Given the description of an element on the screen output the (x, y) to click on. 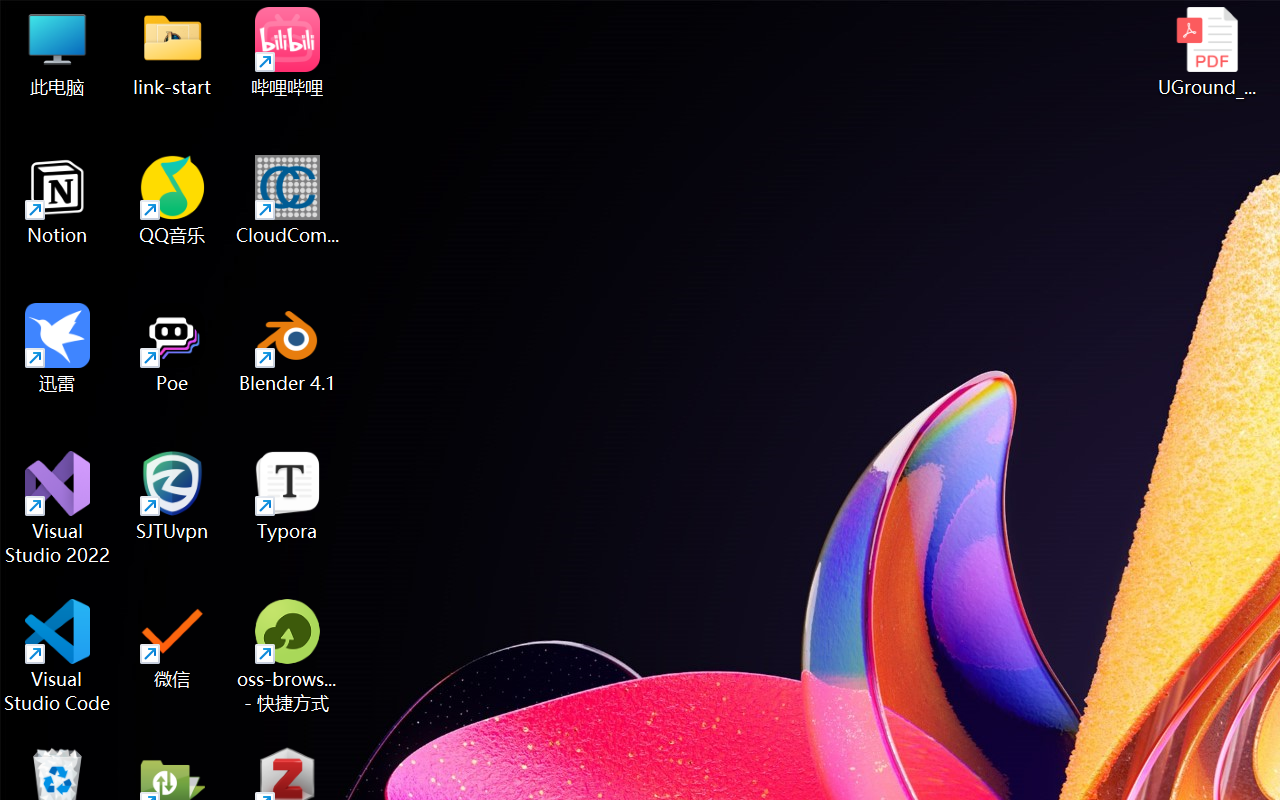
Blender 4.1 (287, 348)
CloudCompare (287, 200)
Visual Studio Code (57, 656)
UGround_paper.pdf (1206, 52)
Typora (287, 496)
Visual Studio 2022 (57, 508)
SJTUvpn (172, 496)
